Given the description of an element on the screen output the (x, y) to click on. 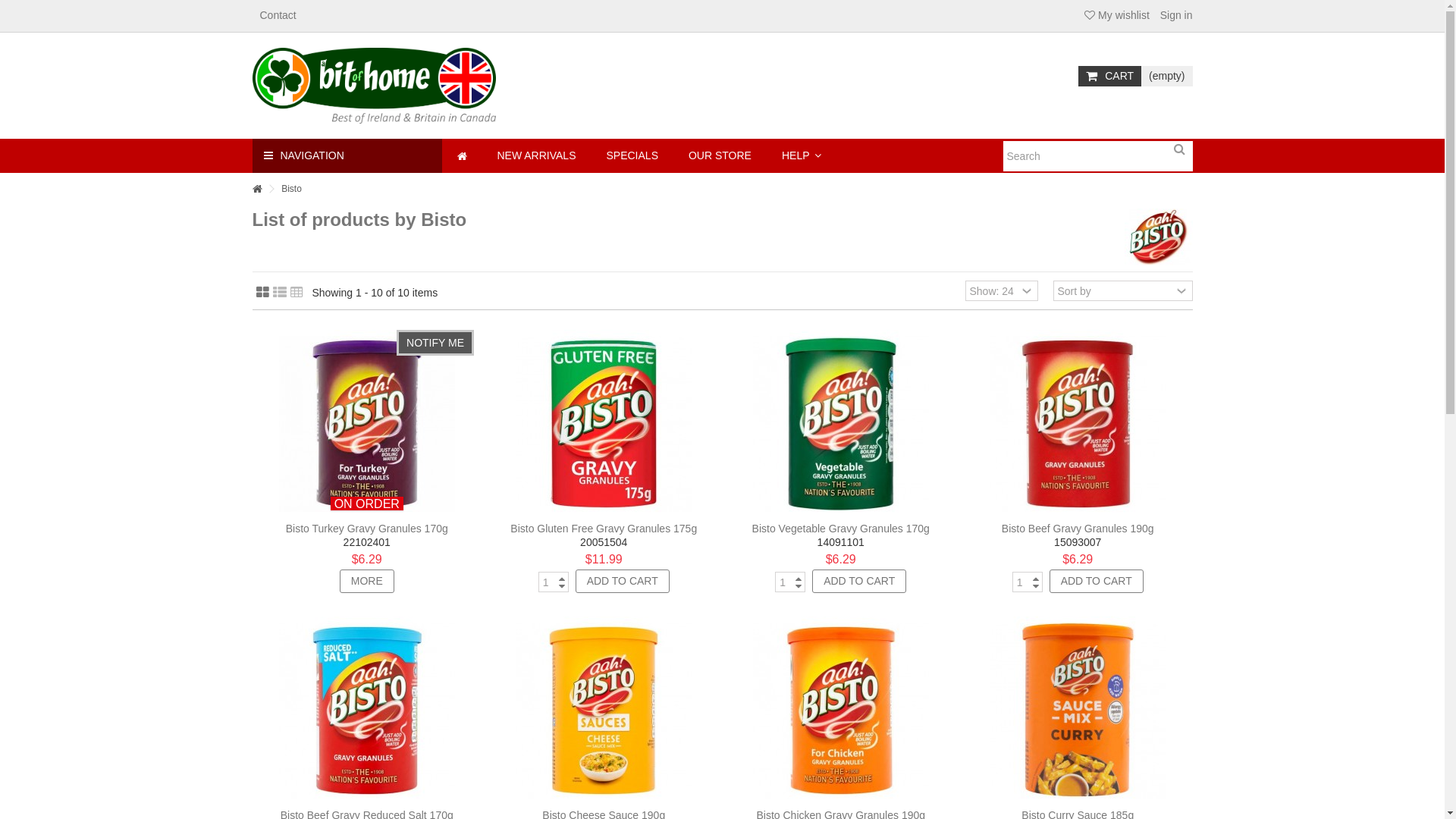
_ Element type: text (366, 710)
Sign in Element type: text (1174, 15)
_ Element type: text (1077, 710)
_ Element type: text (841, 423)
_ Element type: text (603, 423)
Grid Element type: hover (262, 292)
Bisto Vegetable Gravy Granules 170g Element type: text (840, 528)
Contact Element type: text (277, 15)
Bisto Turkey Gravy Granules 170g Element type: text (366, 528)
OUR STORE Element type: text (719, 155)
CART (empty) Element type: text (1135, 75)
Return to Home Element type: hover (255, 188)
Table Element type: hover (295, 292)
_ Element type: text (603, 710)
_ Element type: text (841, 710)
NEW ARRIVALS Element type: text (536, 155)
List Element type: hover (279, 292)
ADD TO CART Element type: text (859, 581)
HELP Element type: text (801, 155)
My wishlist Element type: text (1116, 15)
Bisto Gluten Free Gravy Granules 175g Element type: text (603, 528)
ADD TO CART Element type: text (1096, 581)
NOTIFY ME Element type: text (366, 423)
ADD TO CART Element type: text (622, 581)
Bisto Beef Gravy Granules 190g Element type: text (1077, 528)
_ Element type: text (1077, 423)
SPECIALS Element type: text (632, 155)
MORE Element type: text (366, 581)
